Given the description of an element on the screen output the (x, y) to click on. 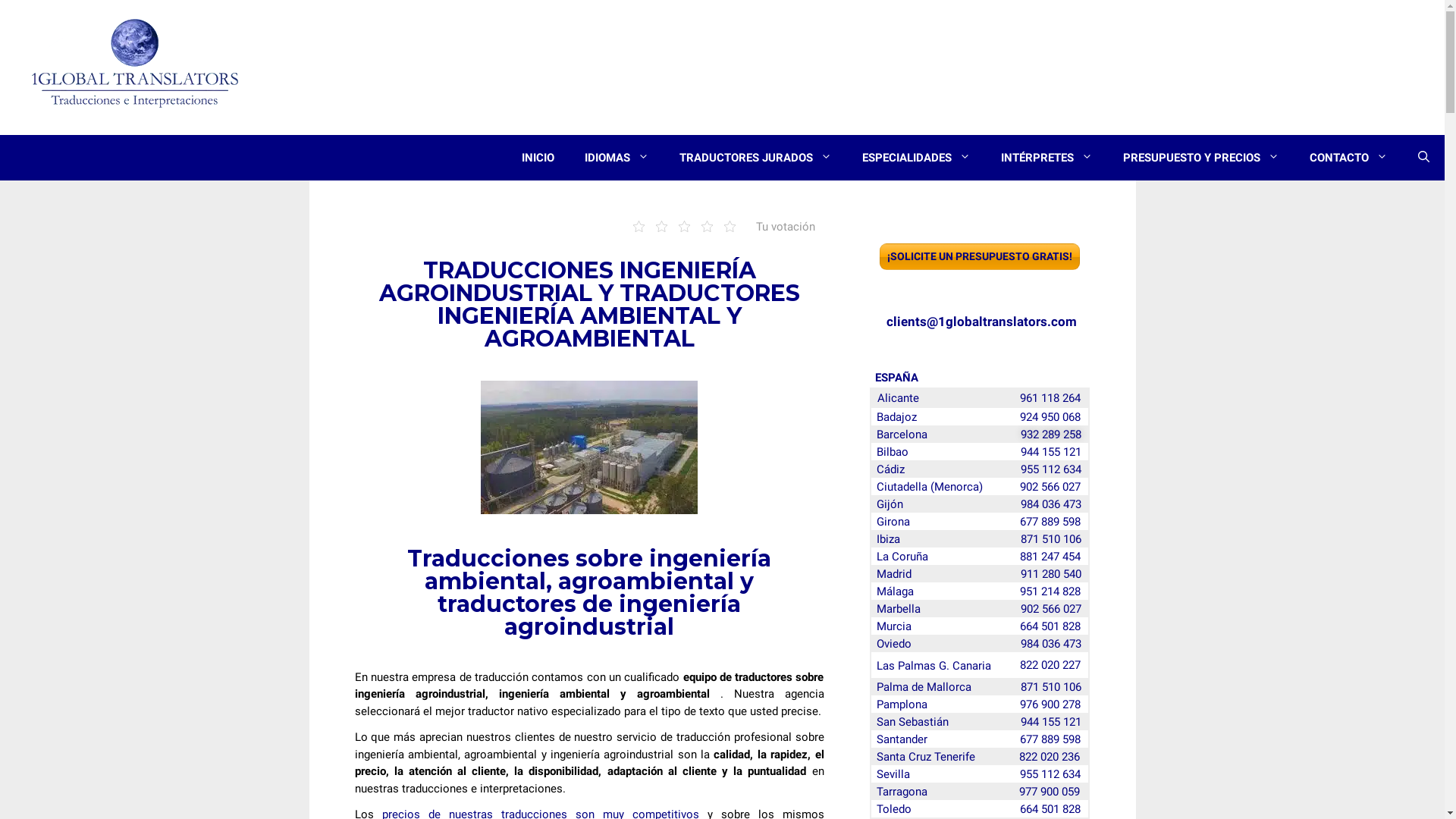
PRESUPUESTO Y PRECIOS Element type: text (1200, 157)
Madrid Element type: text (893, 573)
IDIOMAS Element type: text (616, 157)
CONTACTO Element type: text (1348, 157)
INICIO Element type: text (537, 157)
clients@1globaltranslators.com Element type: text (980, 321)
TRADUCTORES JURADOS Element type: text (755, 157)
1Global Translators Element type: hover (135, 64)
ESPECIALIDADES Element type: text (916, 157)
